Given the description of an element on the screen output the (x, y) to click on. 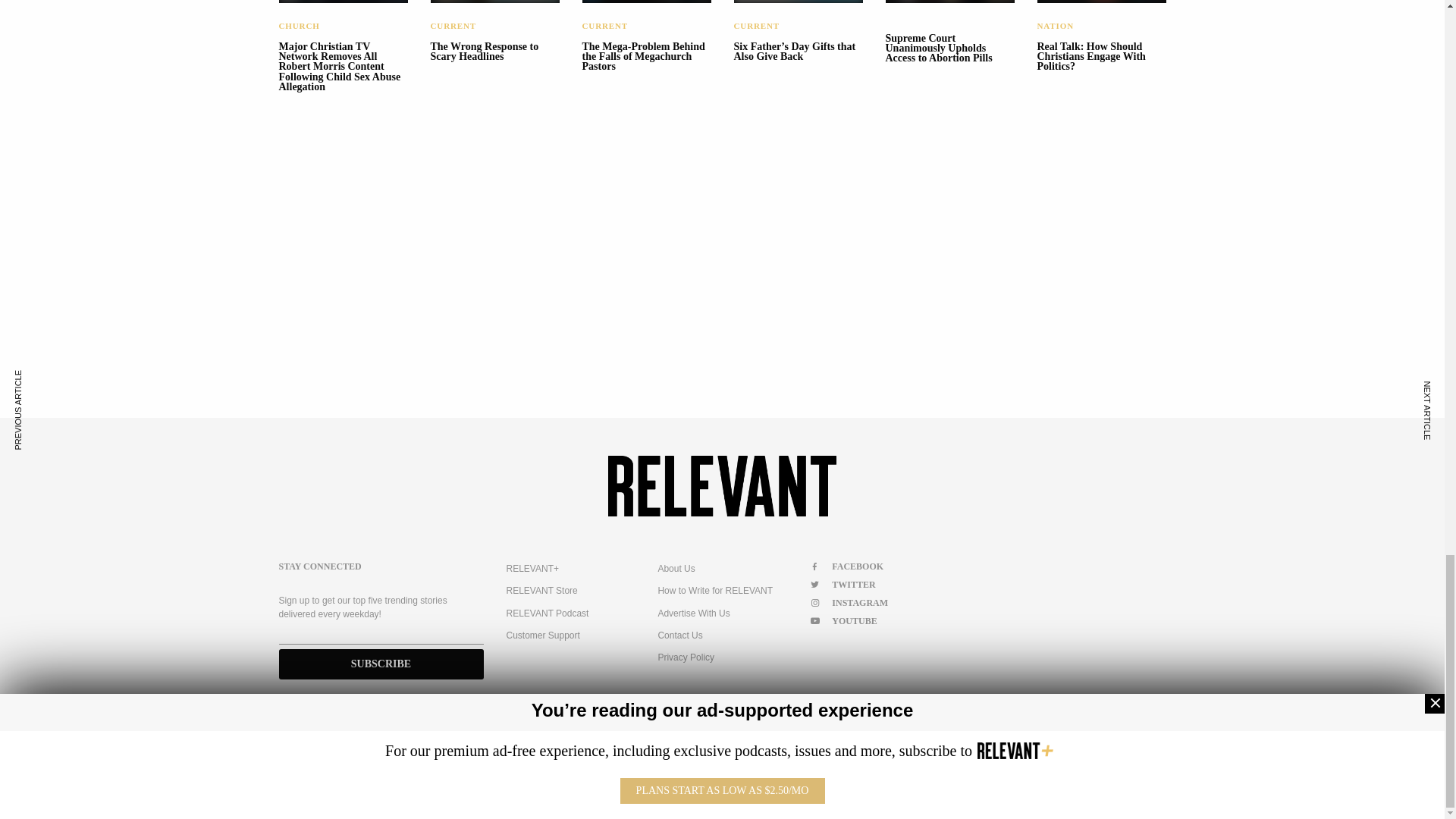
Subscribe (381, 664)
